Given the description of an element on the screen output the (x, y) to click on. 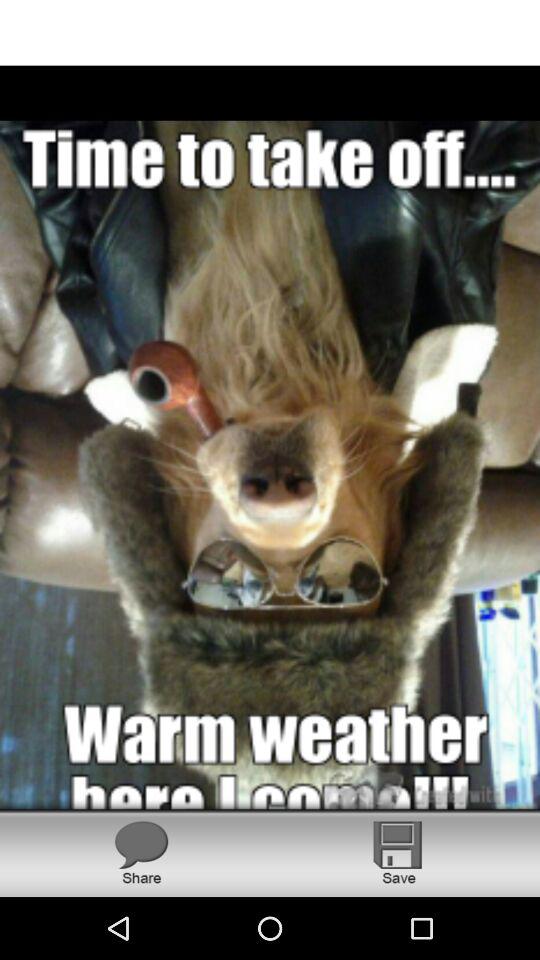
share the picture (141, 852)
